Given the description of an element on the screen output the (x, y) to click on. 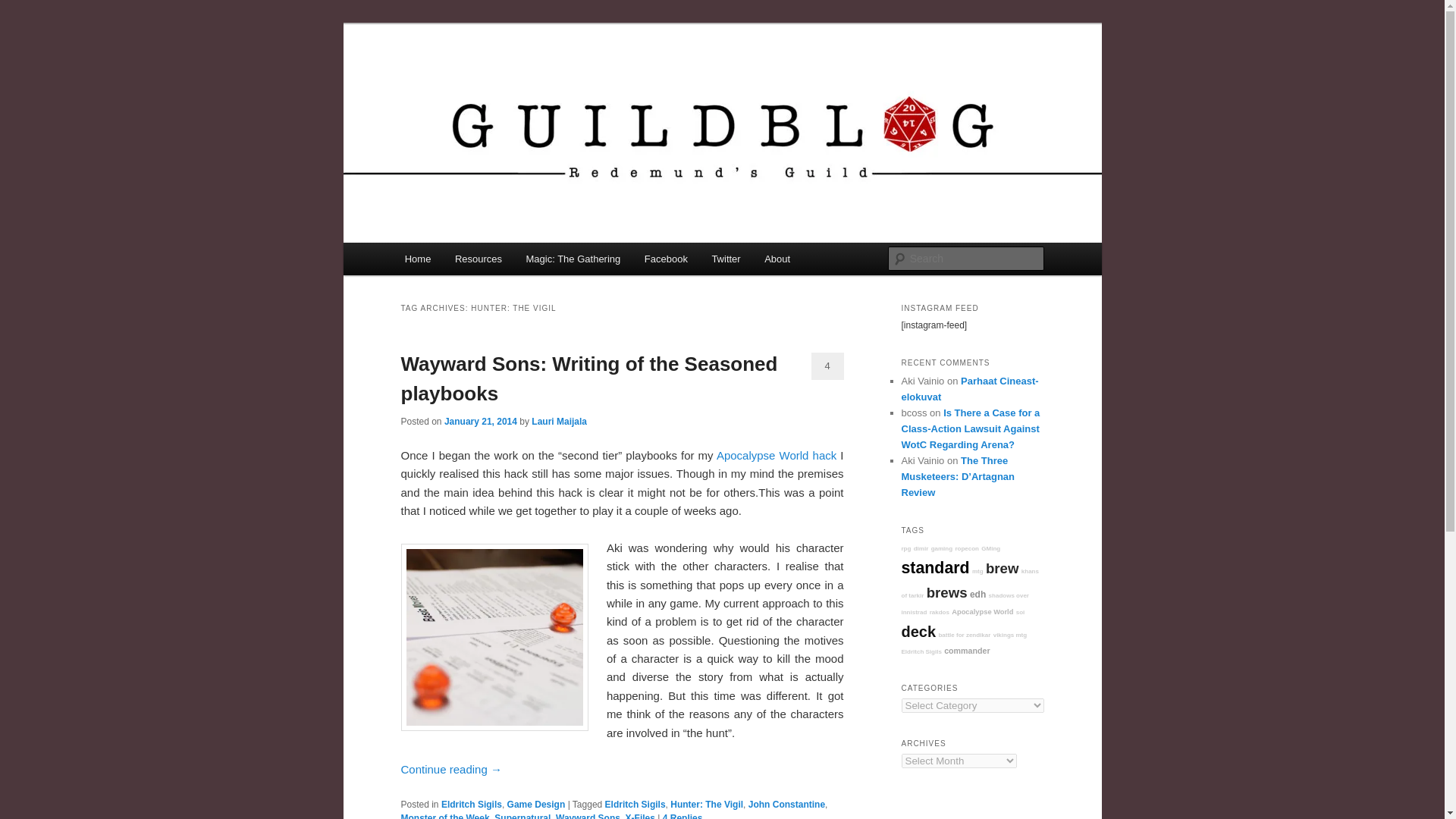
Hunter: The Vigil (705, 804)
22 topics (964, 603)
26 topics (906, 548)
171 topics (947, 592)
Monster of the Week (444, 816)
Parhaat Cineast-elokuvat (969, 388)
29 topics (969, 583)
brew (1002, 568)
37 topics (982, 611)
Home (417, 258)
Facebook (665, 258)
Lauri Maijala (558, 420)
194 topics (935, 567)
19 topics (921, 548)
